Given the description of an element on the screen output the (x, y) to click on. 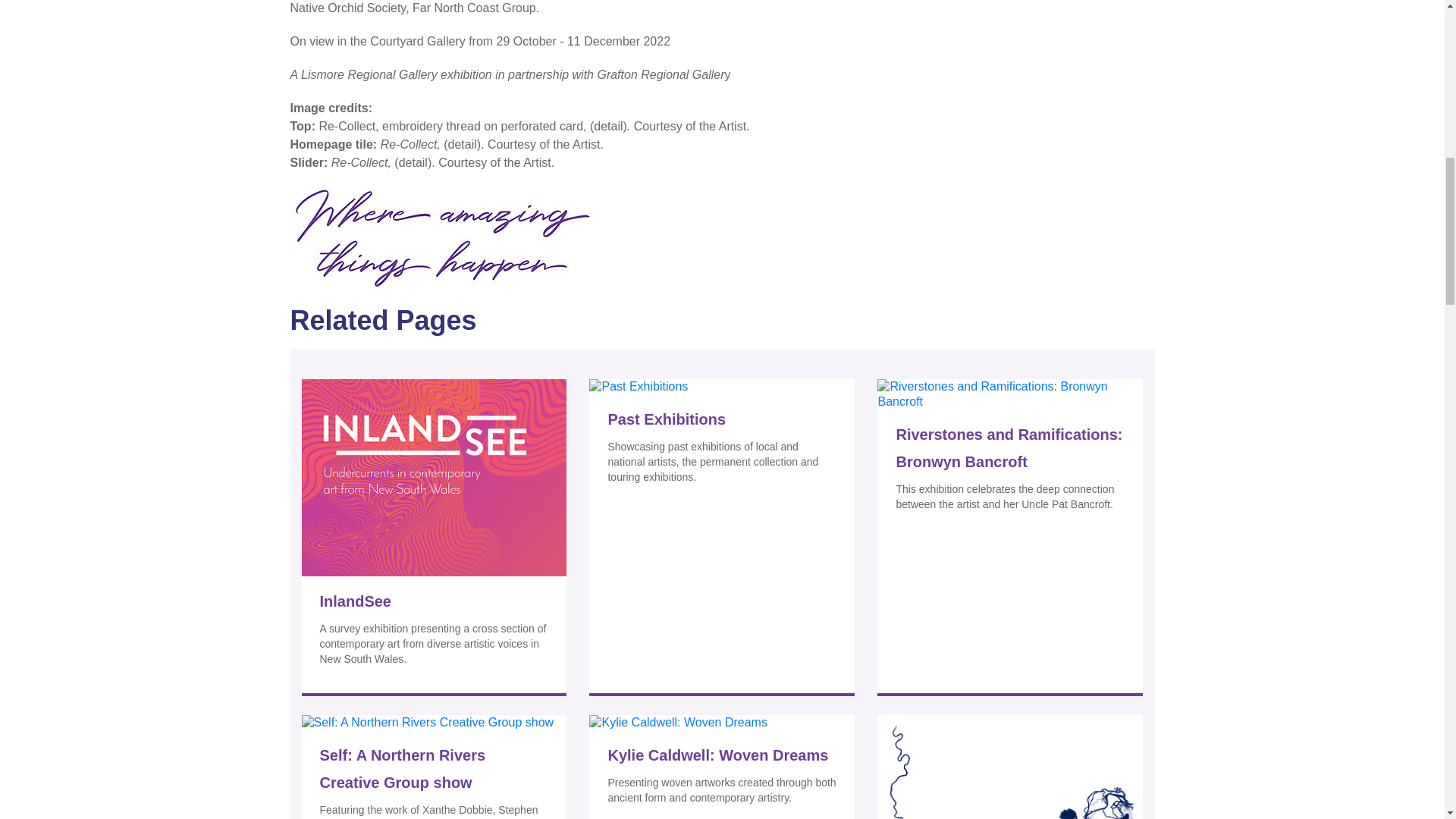
InlandSee (434, 601)
Past Exhibitions (721, 419)
Riverstones and Ramifications: Bronwyn Bancroft (1009, 447)
